Given the description of an element on the screen output the (x, y) to click on. 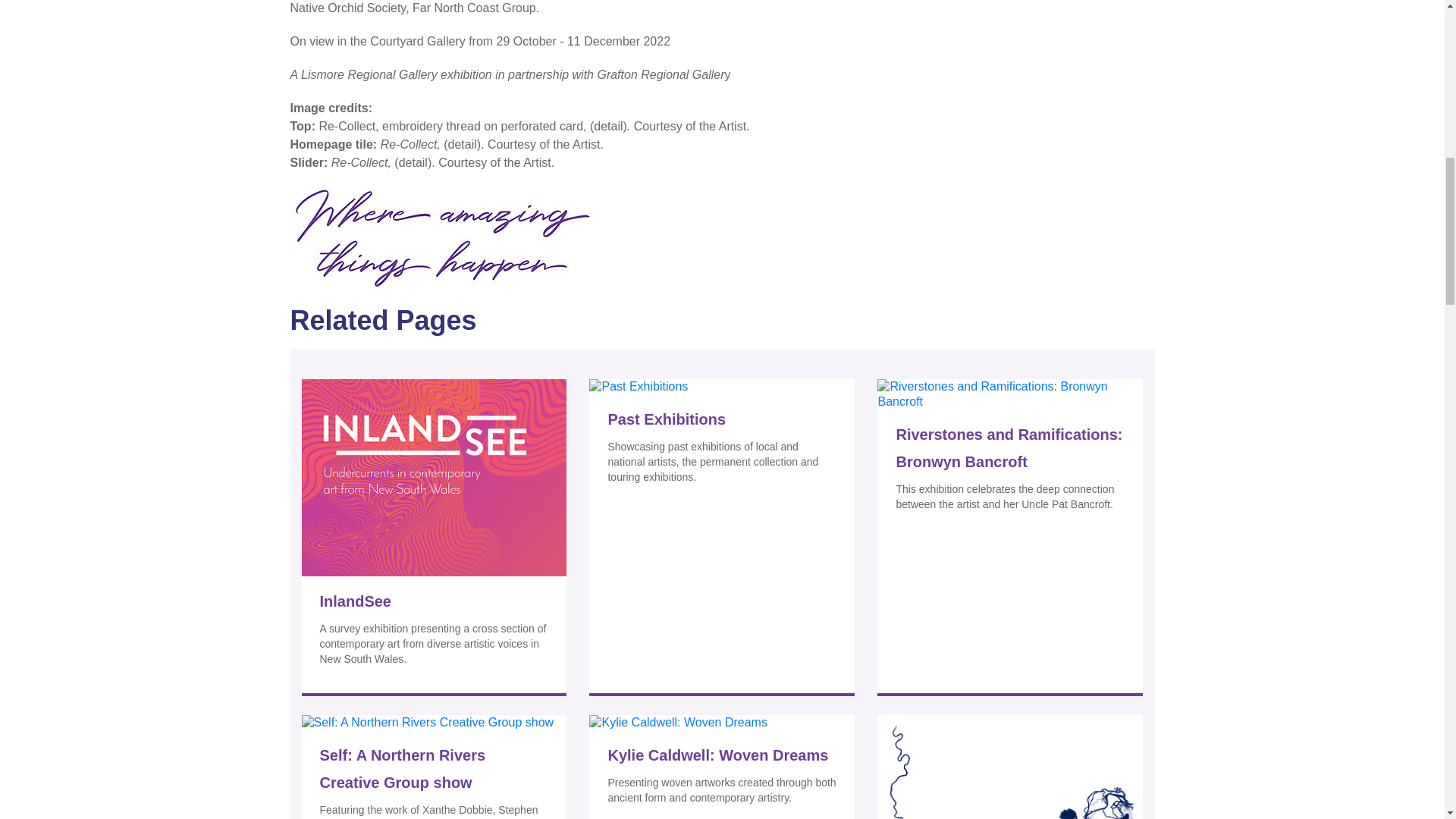
InlandSee (434, 601)
Past Exhibitions (721, 419)
Riverstones and Ramifications: Bronwyn Bancroft (1009, 447)
